Given the description of an element on the screen output the (x, y) to click on. 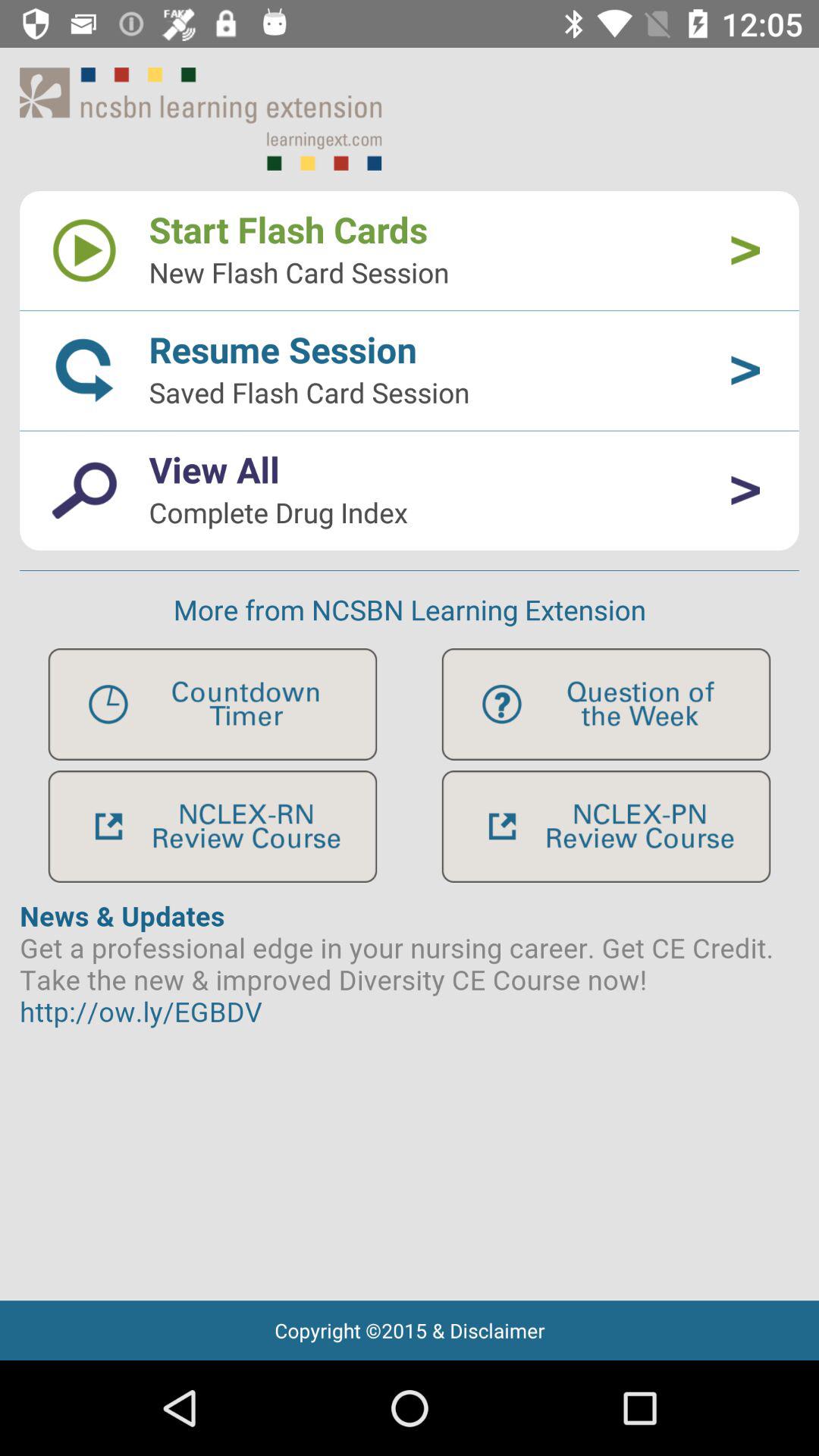
display screen (409, 1091)
